Given the description of an element on the screen output the (x, y) to click on. 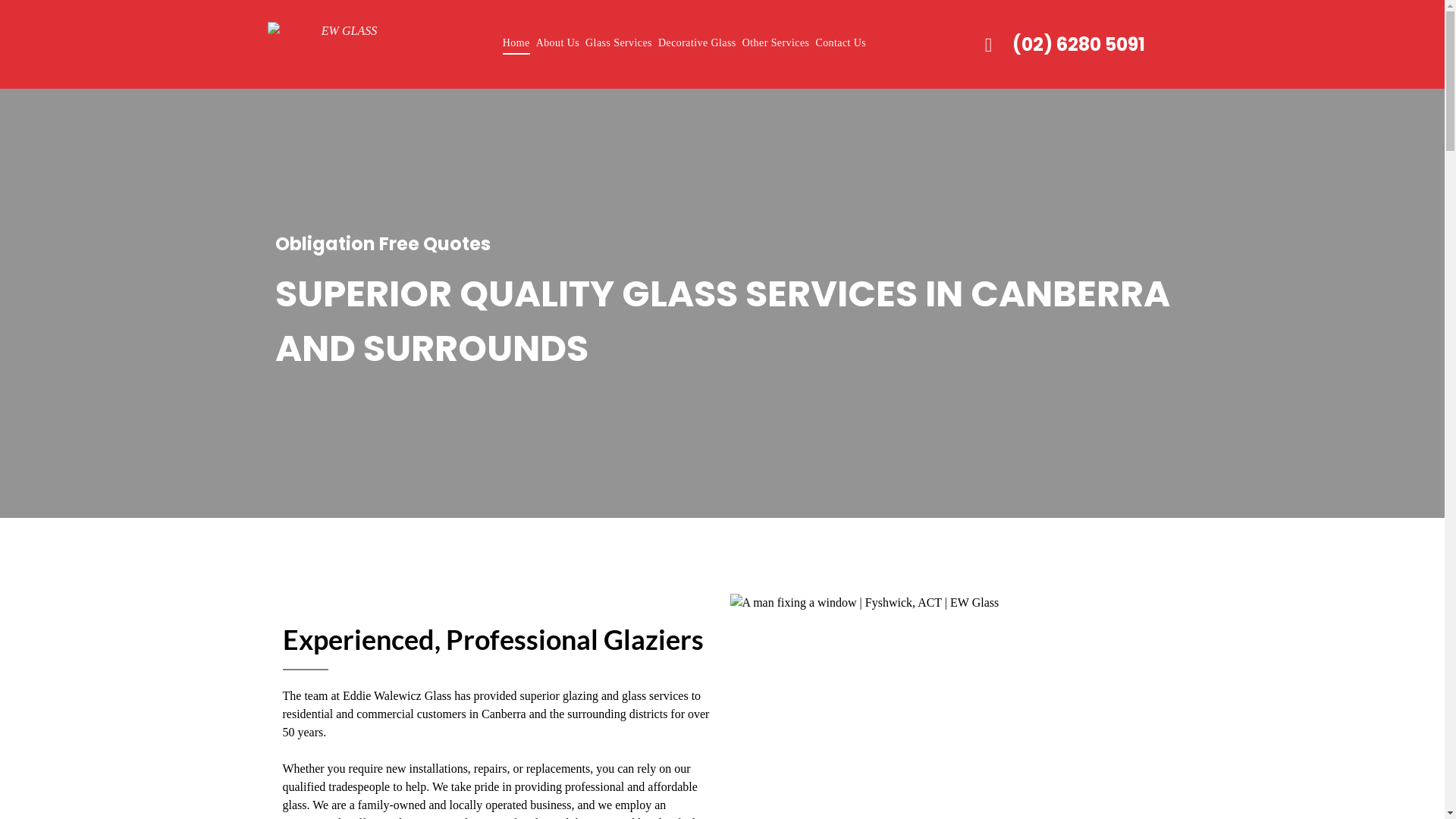
(02) 6280 5091 Element type: text (1063, 43)
Contact Us Element type: text (840, 42)
Other Services Element type: text (775, 42)
Glass Services Element type: text (618, 42)
About Us Element type: text (557, 42)
EW GLASS Element type: hover (342, 41)
Home Element type: text (516, 42)
Decorative Glass Element type: text (697, 42)
